Given the description of an element on the screen output the (x, y) to click on. 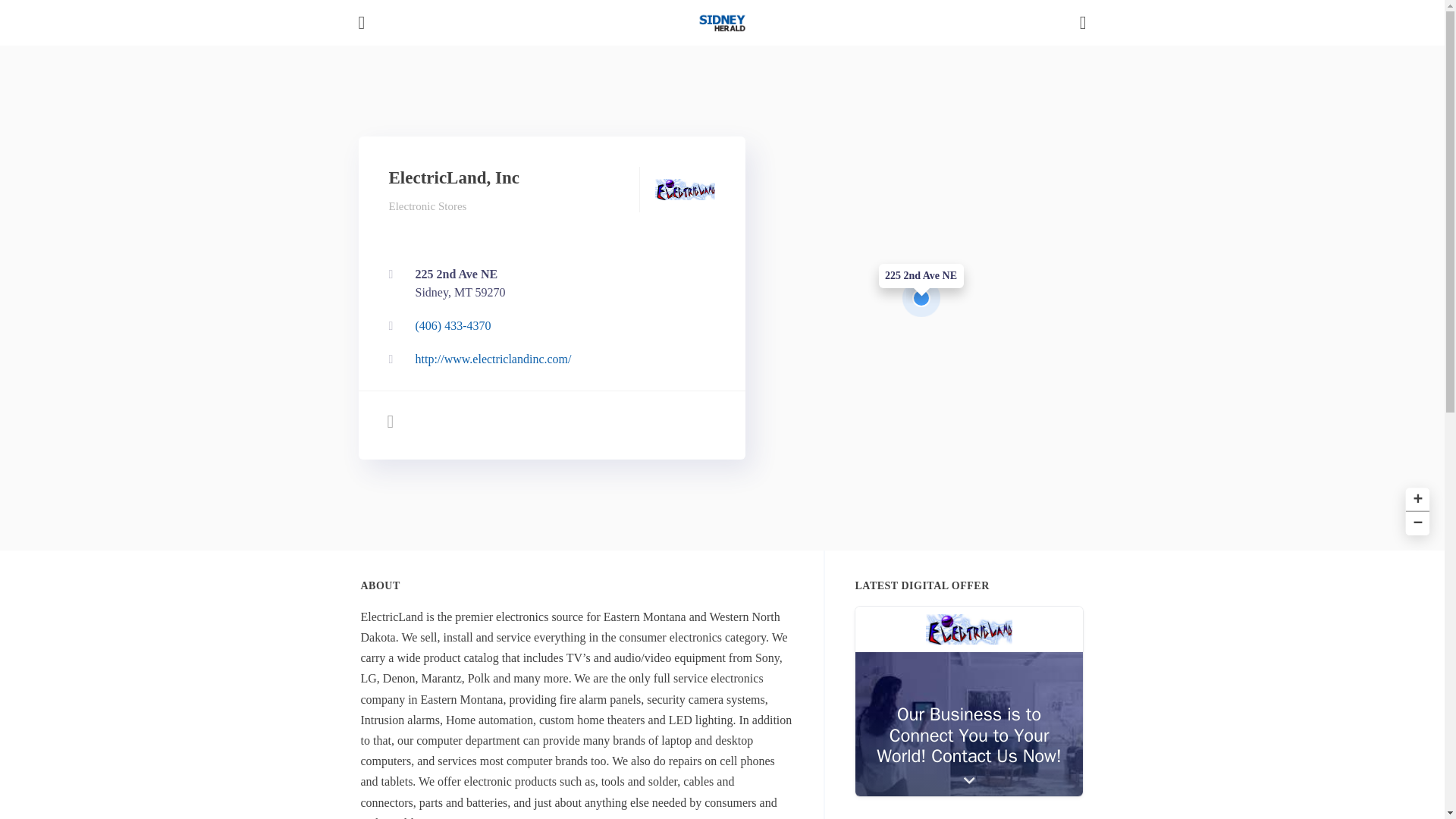
Zoom out (1415, 521)
Get directions (547, 283)
Call Phone Number (547, 326)
Zoom in (1415, 496)
Origami widget number: 1898790 (547, 283)
Electronic Stores (969, 701)
Open website in a new tab (426, 205)
